Given the description of an element on the screen output the (x, y) to click on. 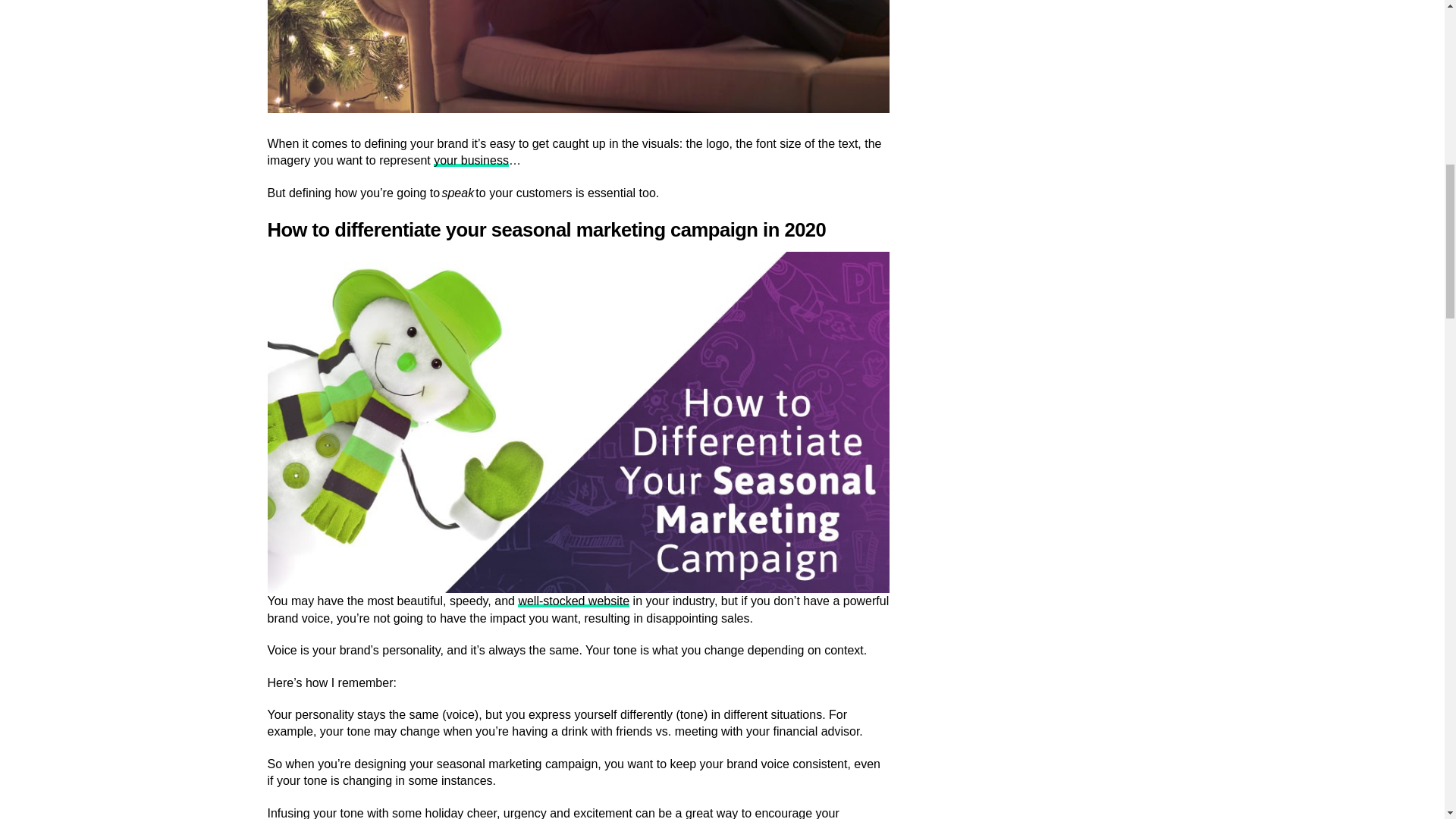
well-stocked website (573, 600)
your business (470, 160)
